Given the description of an element on the screen output the (x, y) to click on. 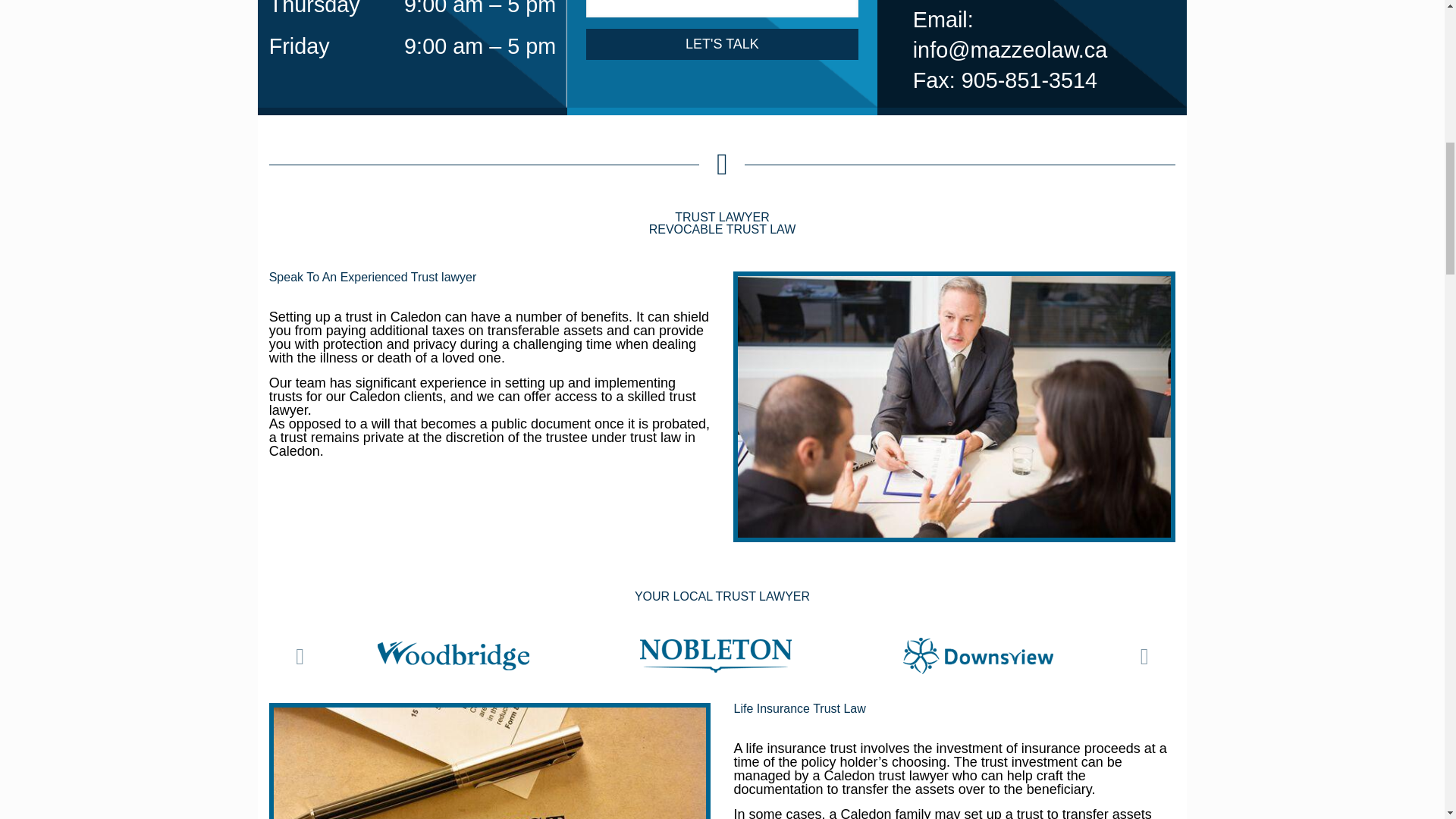
will-lawyer (954, 407)
LET'S TALK (722, 43)
revocable-trust (489, 763)
LET'S TALK (722, 43)
